Given the description of an element on the screen output the (x, y) to click on. 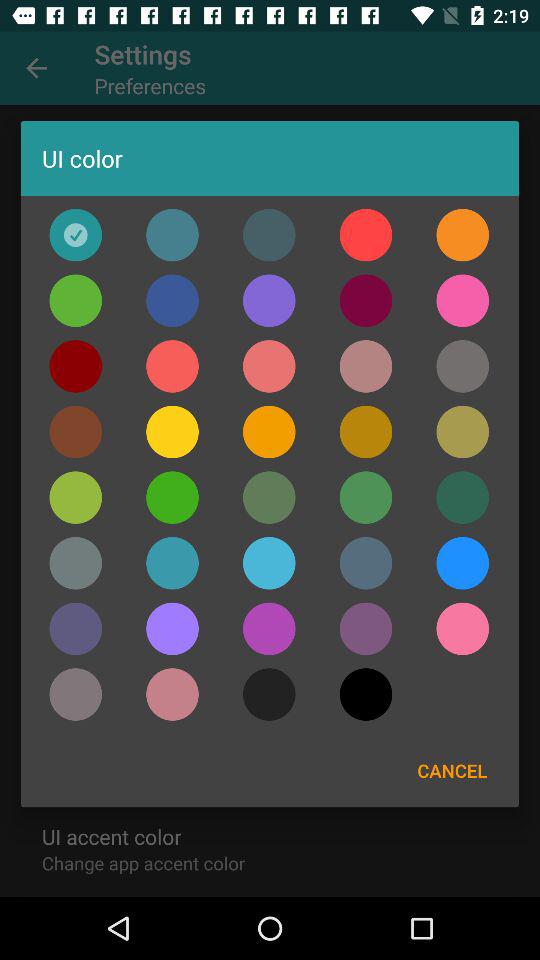
open the item below the ui color icon (365, 234)
